Given the description of an element on the screen output the (x, y) to click on. 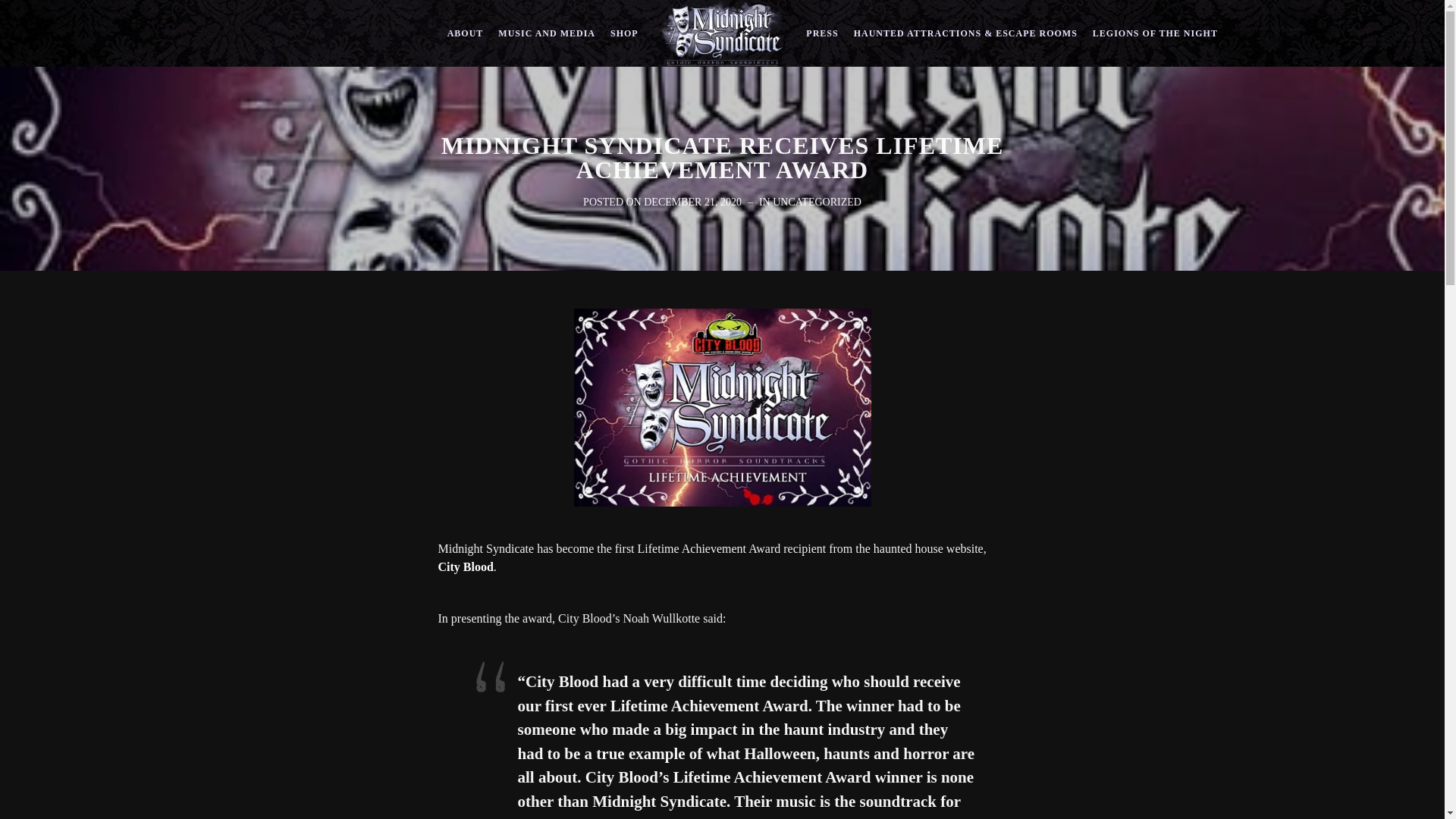
SHOP (624, 33)
PRESS (821, 33)
MUSIC AND MEDIA (546, 33)
View all posts in the Uncategorized category (817, 202)
ABOUT (465, 33)
LEGIONS OF THE NIGHT (1154, 33)
